Given the description of an element on the screen output the (x, y) to click on. 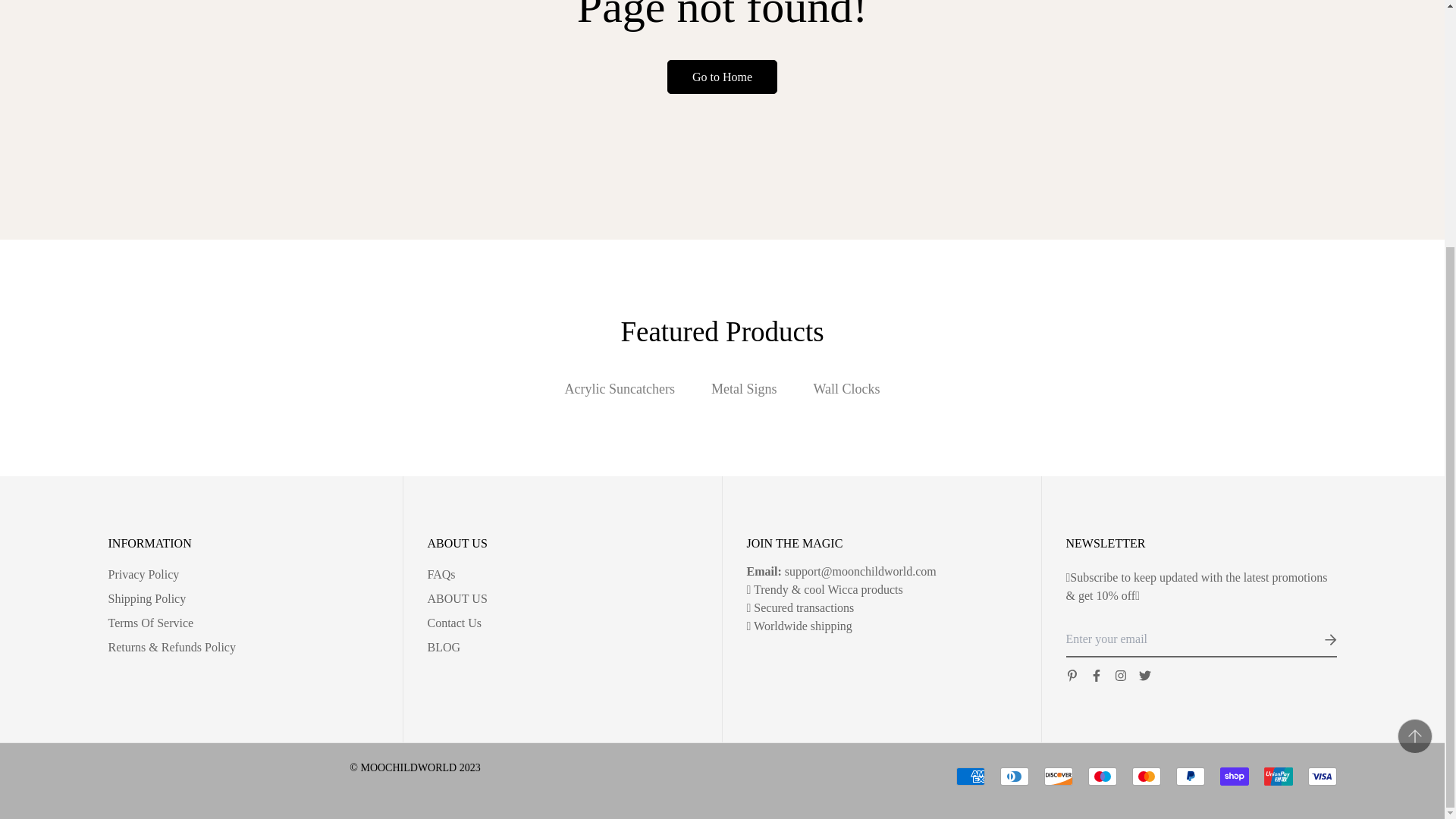
Customer reviews powered by Trustpilot (414, 785)
